Given the description of an element on the screen output the (x, y) to click on. 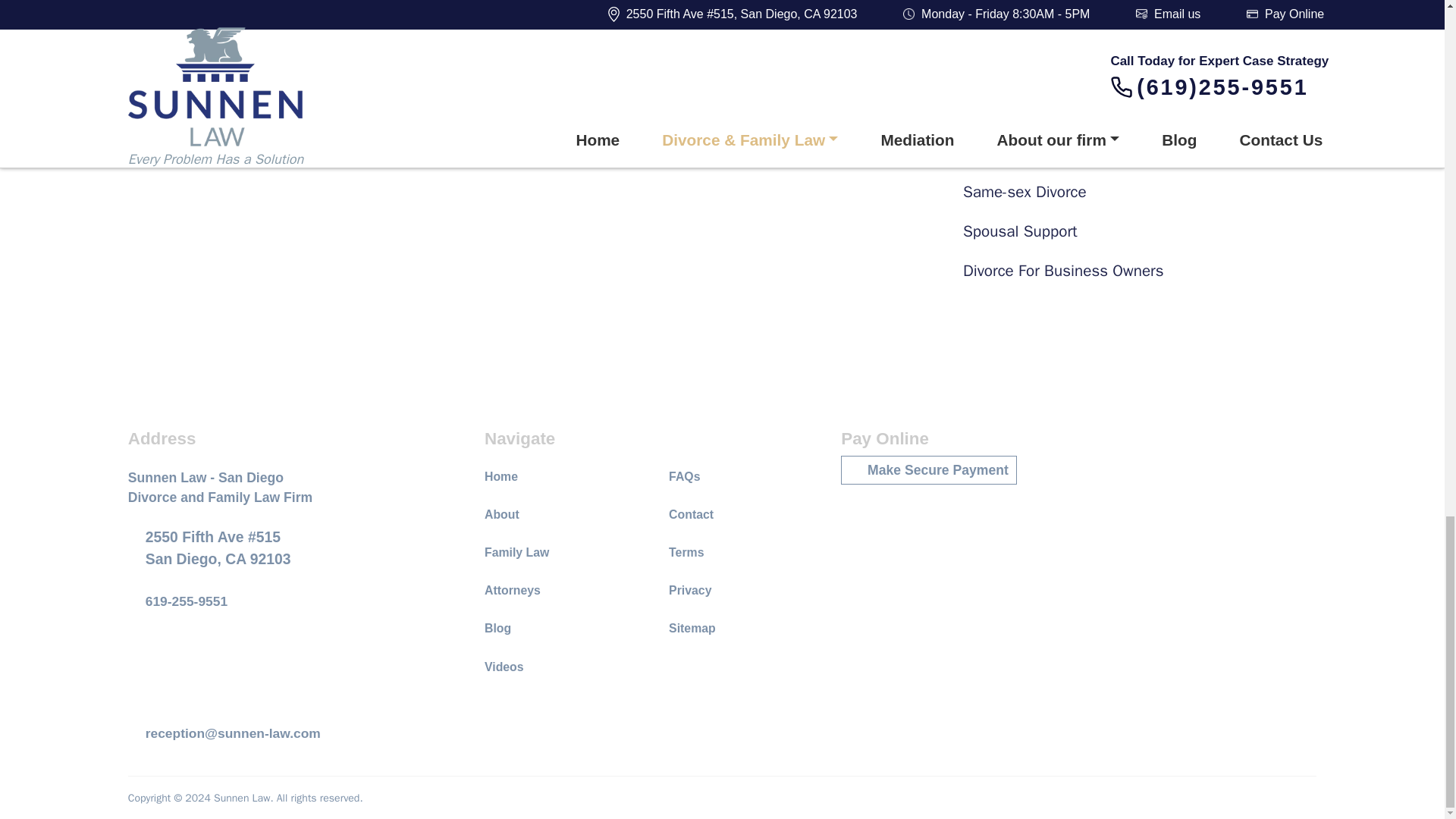
Relocation Move-away Requests (1142, 114)
Restraining Orders (1142, 152)
Spousal Support (1142, 231)
Paternity Law (1142, 34)
Prenuptial Agreements (1142, 74)
Military Divorce (1142, 3)
Divorce For Business Owners (1142, 270)
Same-sex Divorce (1142, 191)
